Given the description of an element on the screen output the (x, y) to click on. 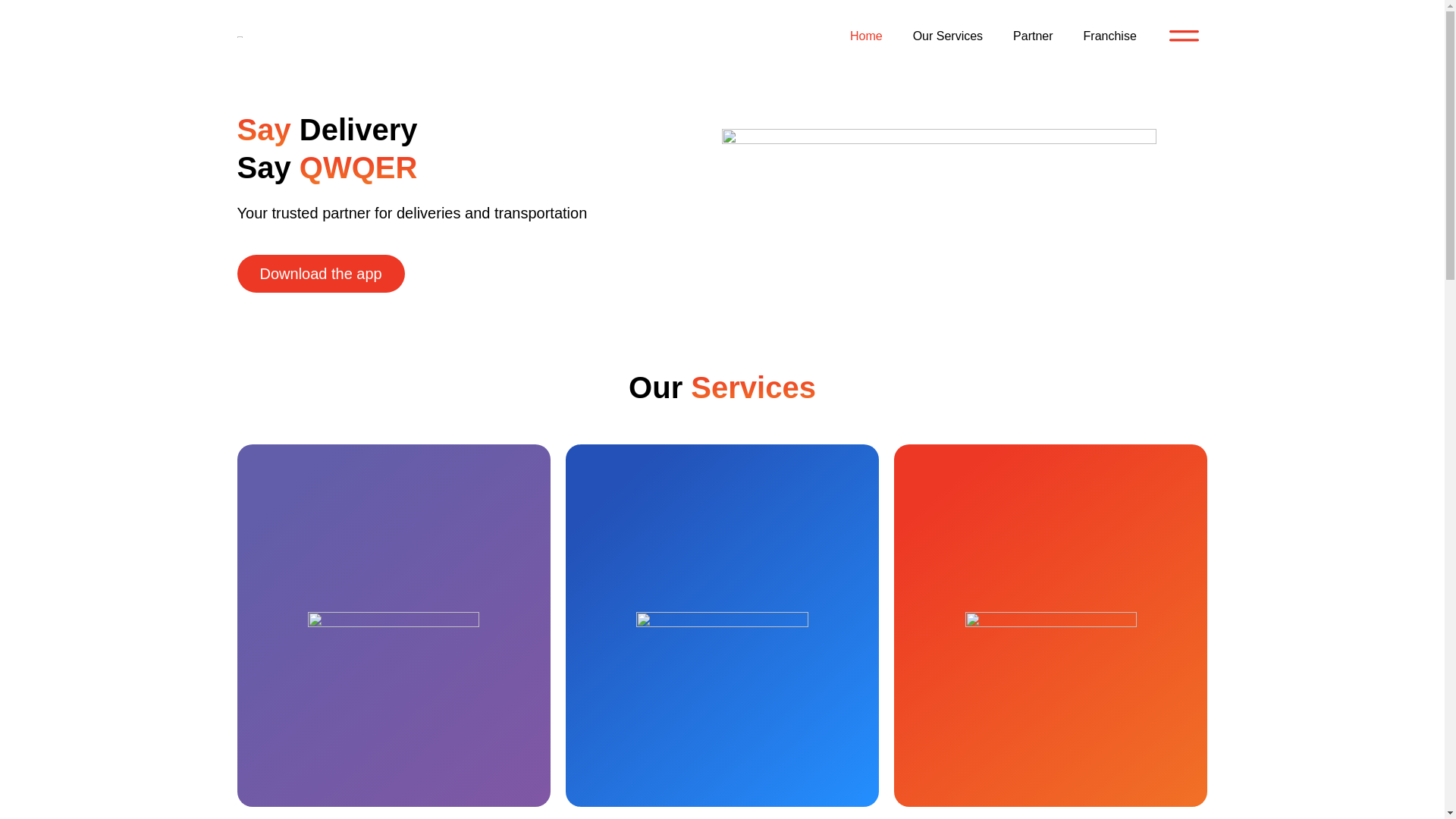
Our Services (947, 36)
Franchise (1109, 36)
Home (866, 36)
Partner (1032, 36)
